Given the description of an element on the screen output the (x, y) to click on. 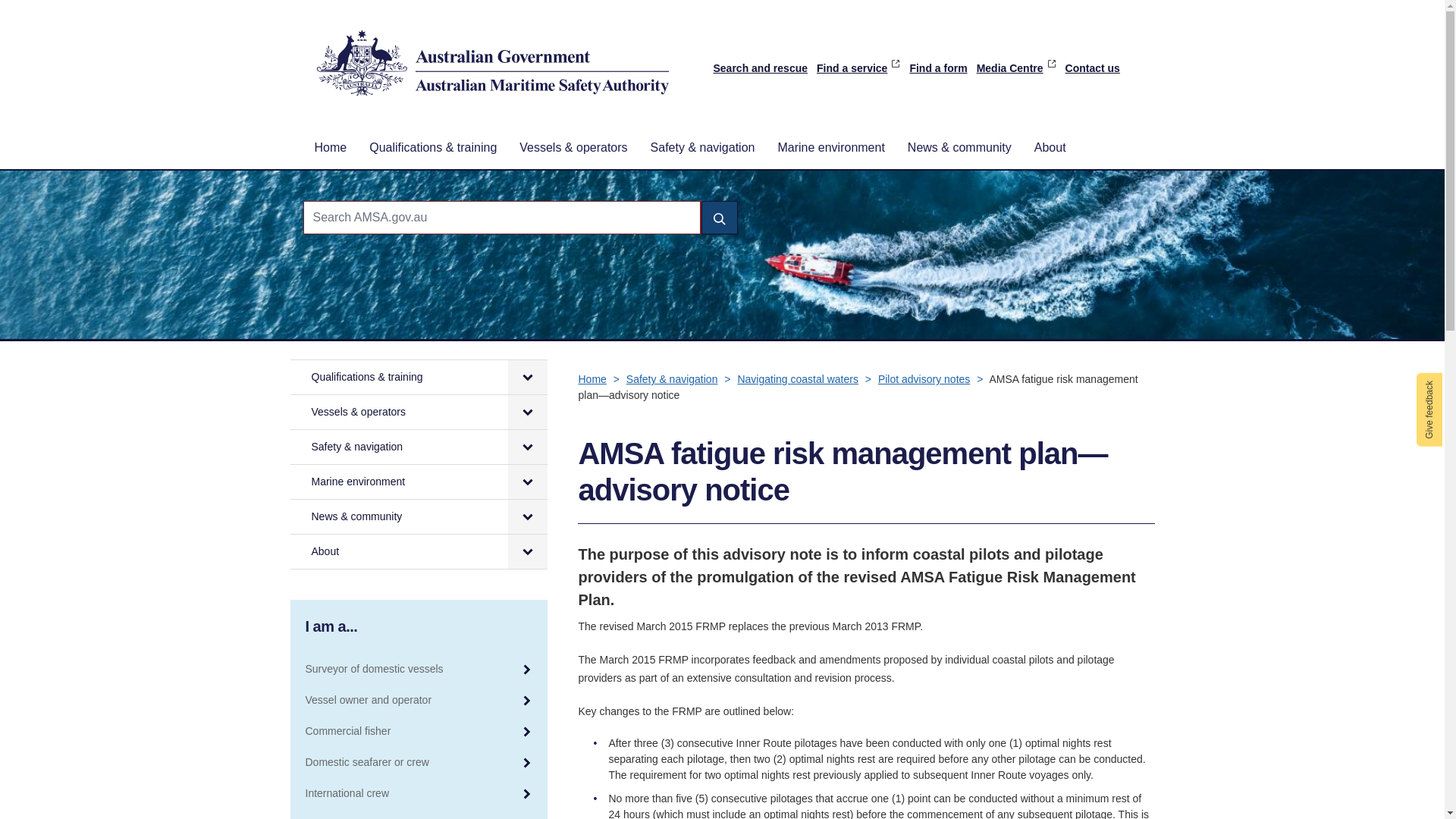
Media Centre (1016, 68)
Find a service (857, 68)
Go (718, 217)
open-menu (527, 376)
open-menu (527, 411)
Find a form (937, 68)
Home (330, 147)
Search and rescue (760, 68)
Contact us (1092, 68)
Skip to main content (721, 1)
